Given the description of an element on the screen output the (x, y) to click on. 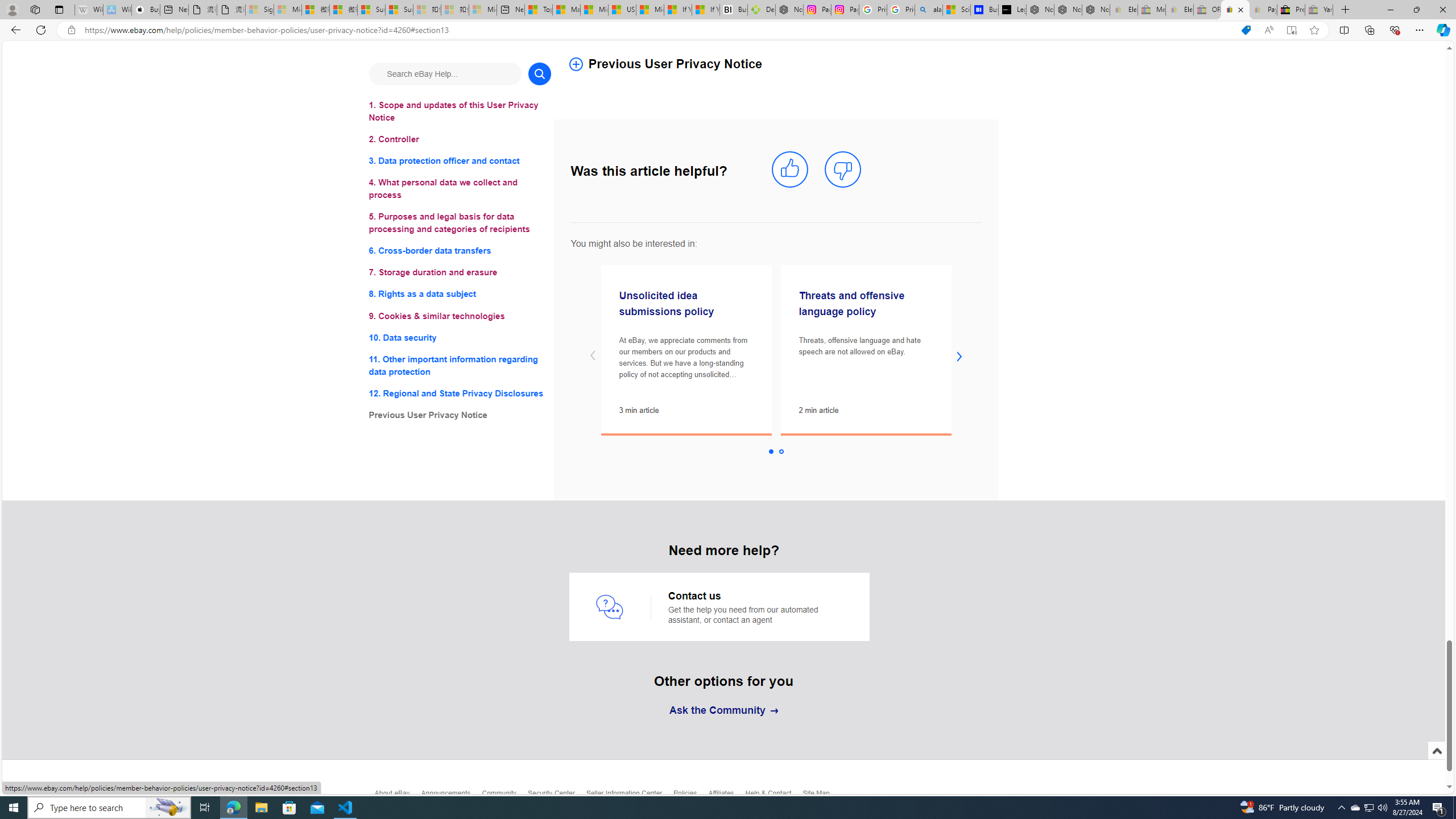
6. Cross-border data transfers (459, 250)
next slide (959, 355)
Site Map (821, 796)
Ask the Community - opens in new window or tab (723, 711)
Community (504, 795)
4. What personal data we collect and process (459, 189)
12. Regional and State Privacy Disclosures (459, 392)
8. Rights as a data subject (459, 293)
mark this article not helpful (842, 170)
Seller Information Center (629, 795)
